Given the description of an element on the screen output the (x, y) to click on. 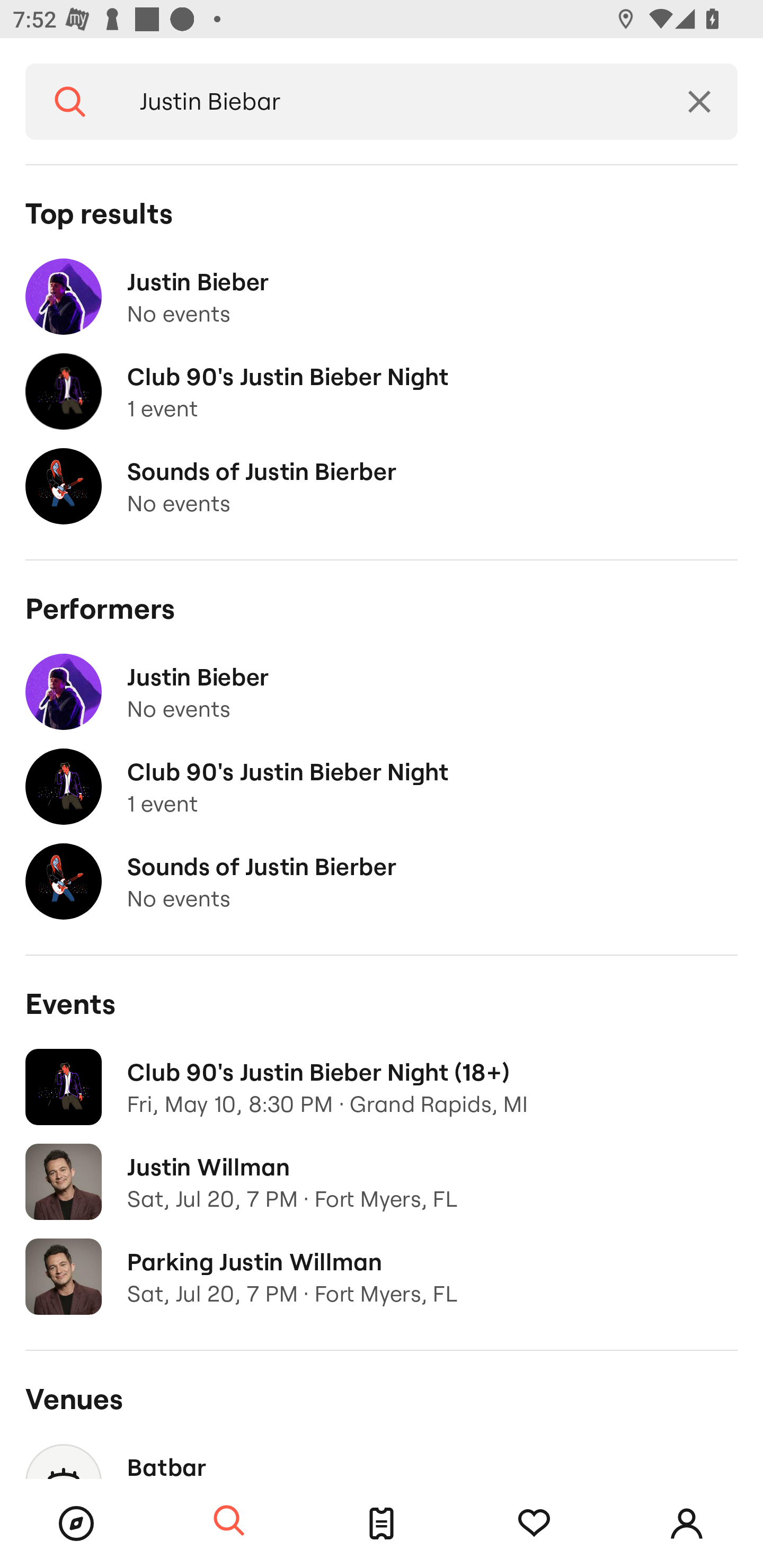
Search (69, 101)
Justin Biebar (387, 101)
Clear (699, 101)
Justin Bieber No events (381, 296)
Club 90's Justin Bieber Night 1 event (381, 391)
Sounds of Justin Bierber No events (381, 486)
Justin Bieber No events (381, 692)
Club 90's Justin Bieber Night 1 event (381, 787)
Sounds of Justin Bierber No events (381, 881)
Justin Willman Sat, Jul 20, 7 PM · Fort Myers, FL (381, 1182)
Browse (76, 1523)
Search (228, 1521)
Tickets (381, 1523)
Tracking (533, 1523)
Account (686, 1523)
